Given the description of an element on the screen output the (x, y) to click on. 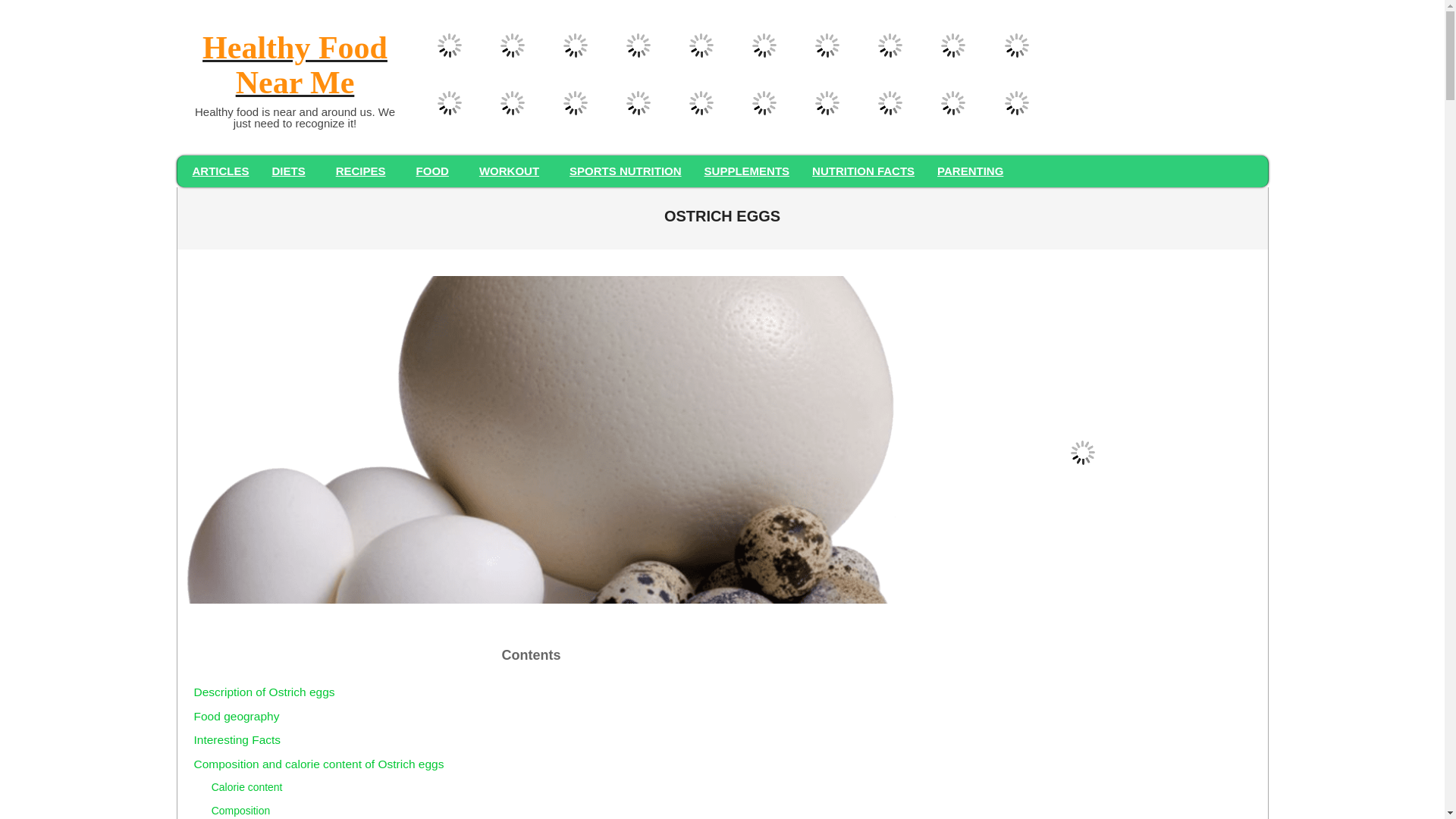
RECIPES (364, 171)
DIETS (292, 171)
Healthy Food Near Me (294, 67)
FOOD (435, 171)
ARTICLES (220, 171)
